Given the description of an element on the screen output the (x, y) to click on. 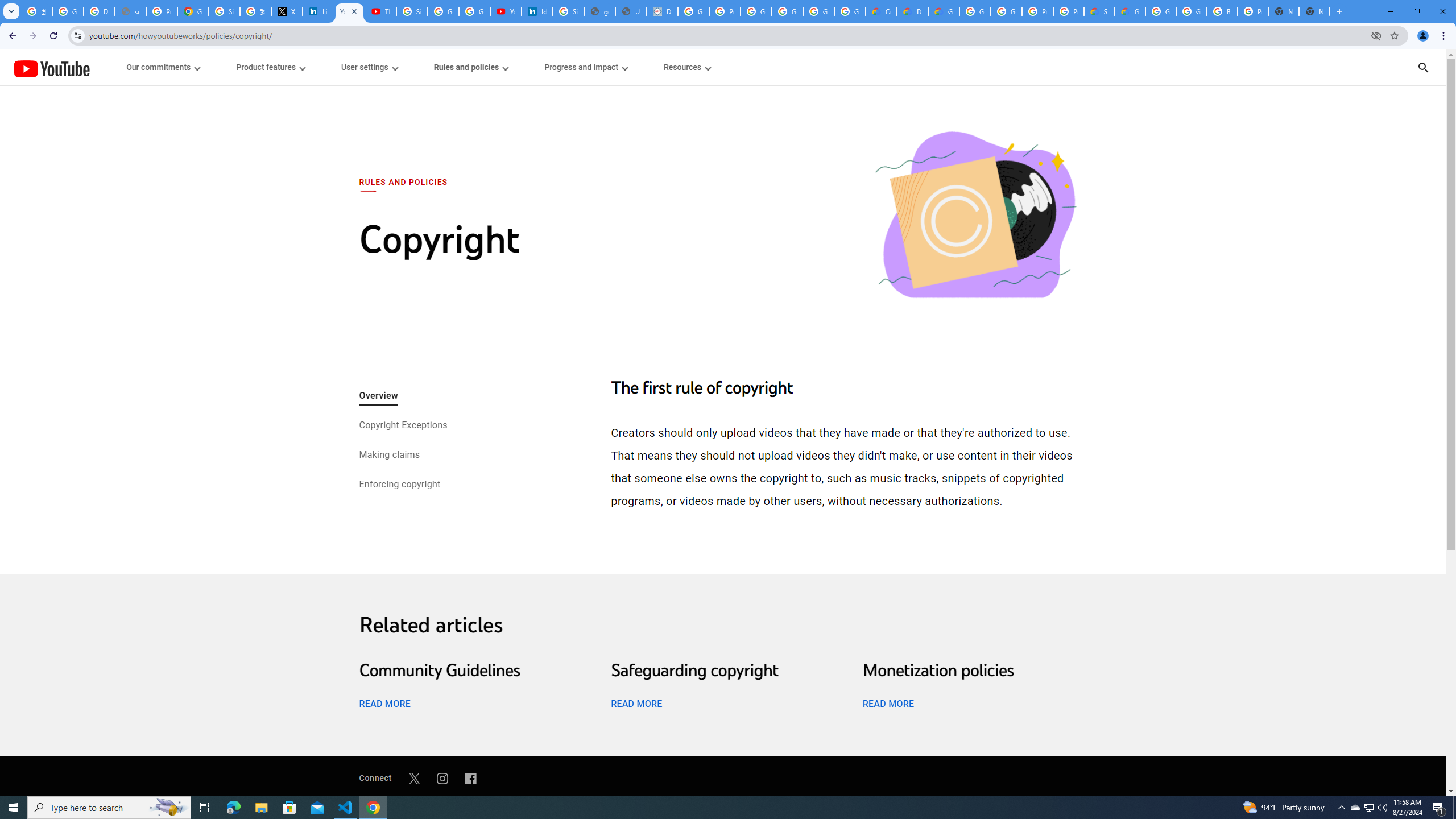
Google Cloud Platform (1005, 11)
Privacy Help Center - Policies Help (161, 11)
X (286, 11)
Google Cloud Platform (1190, 11)
Google Cloud Platform (974, 11)
Google Workspace - Specific Terms (818, 11)
